Given the description of an element on the screen output the (x, y) to click on. 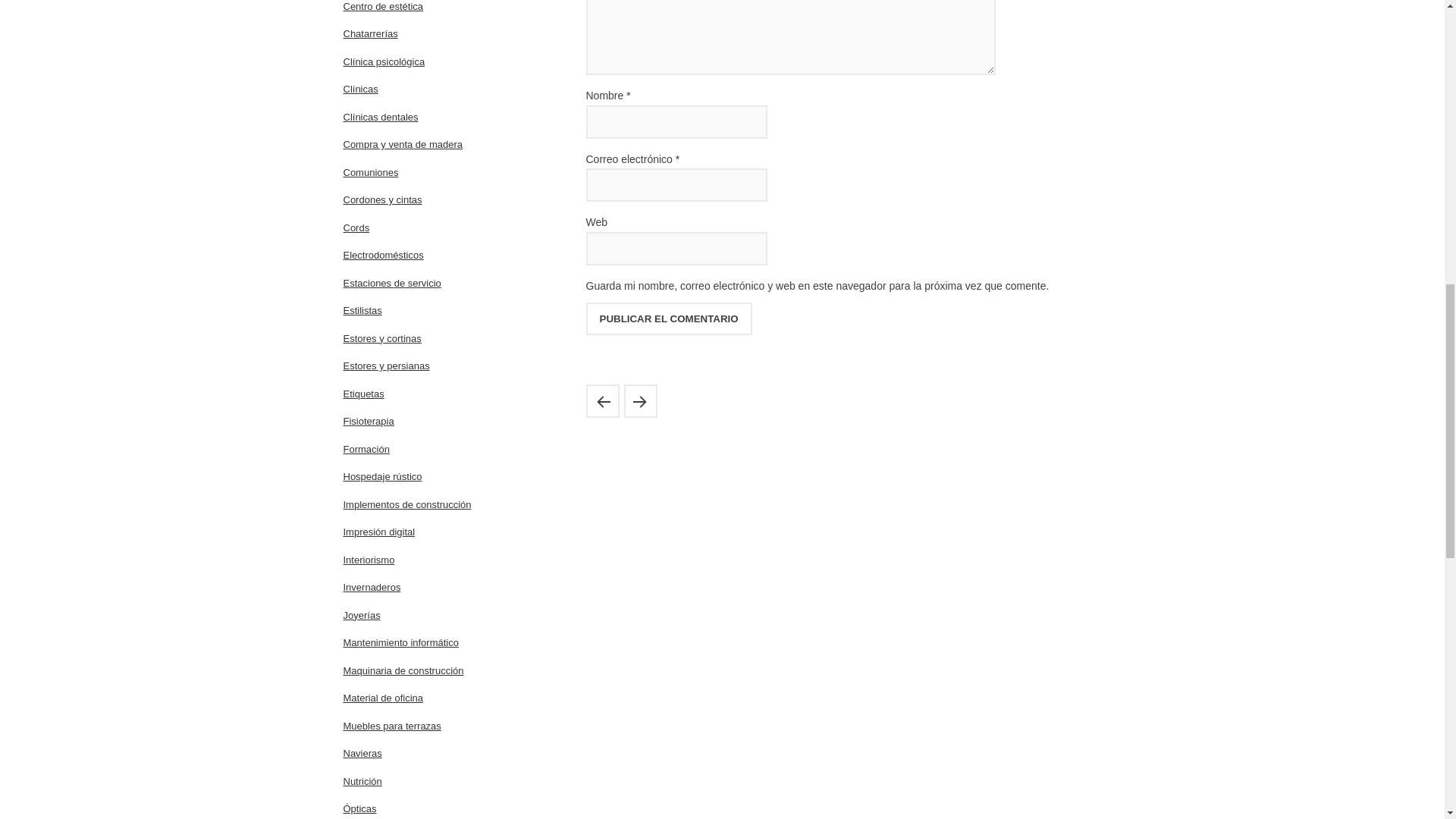
Estaciones de servicio (391, 283)
Publicar el comentario (668, 318)
Interiorismo (368, 559)
Estilistas (361, 310)
Estores y persianas (385, 365)
Estores y cortinas (381, 337)
Compra y venta de madera (402, 143)
Invernaderos (371, 586)
Cordones y cintas (382, 199)
Fisioterapia (367, 420)
